Given the description of an element on the screen output the (x, y) to click on. 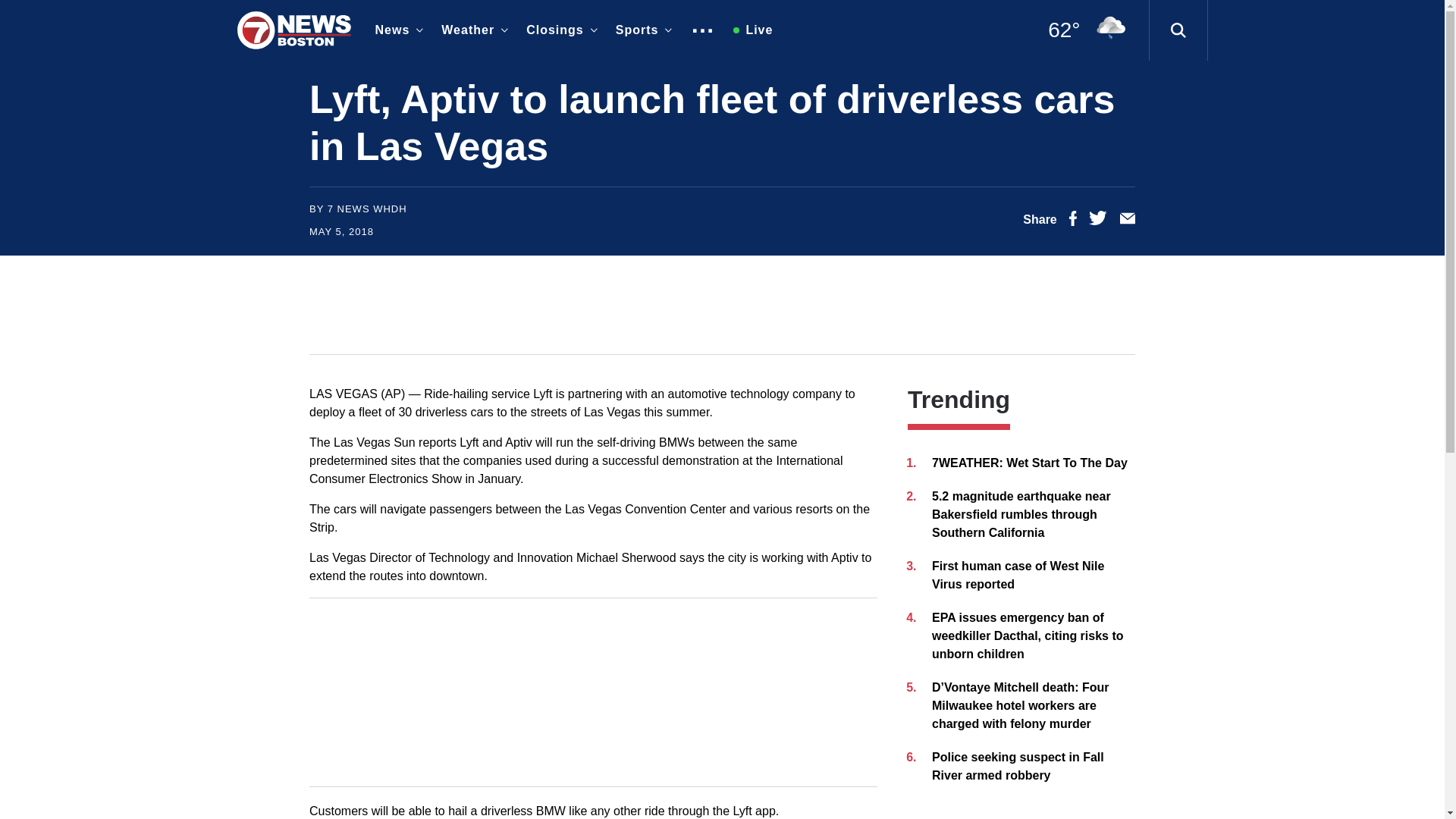
Closings (558, 30)
Twitter (1098, 221)
Email (1127, 221)
News (395, 30)
May 5, 2018 (341, 231)
Weather (471, 30)
Posts by 7 News WHDH (367, 208)
Sports (641, 30)
